Given the description of an element on the screen output the (x, y) to click on. 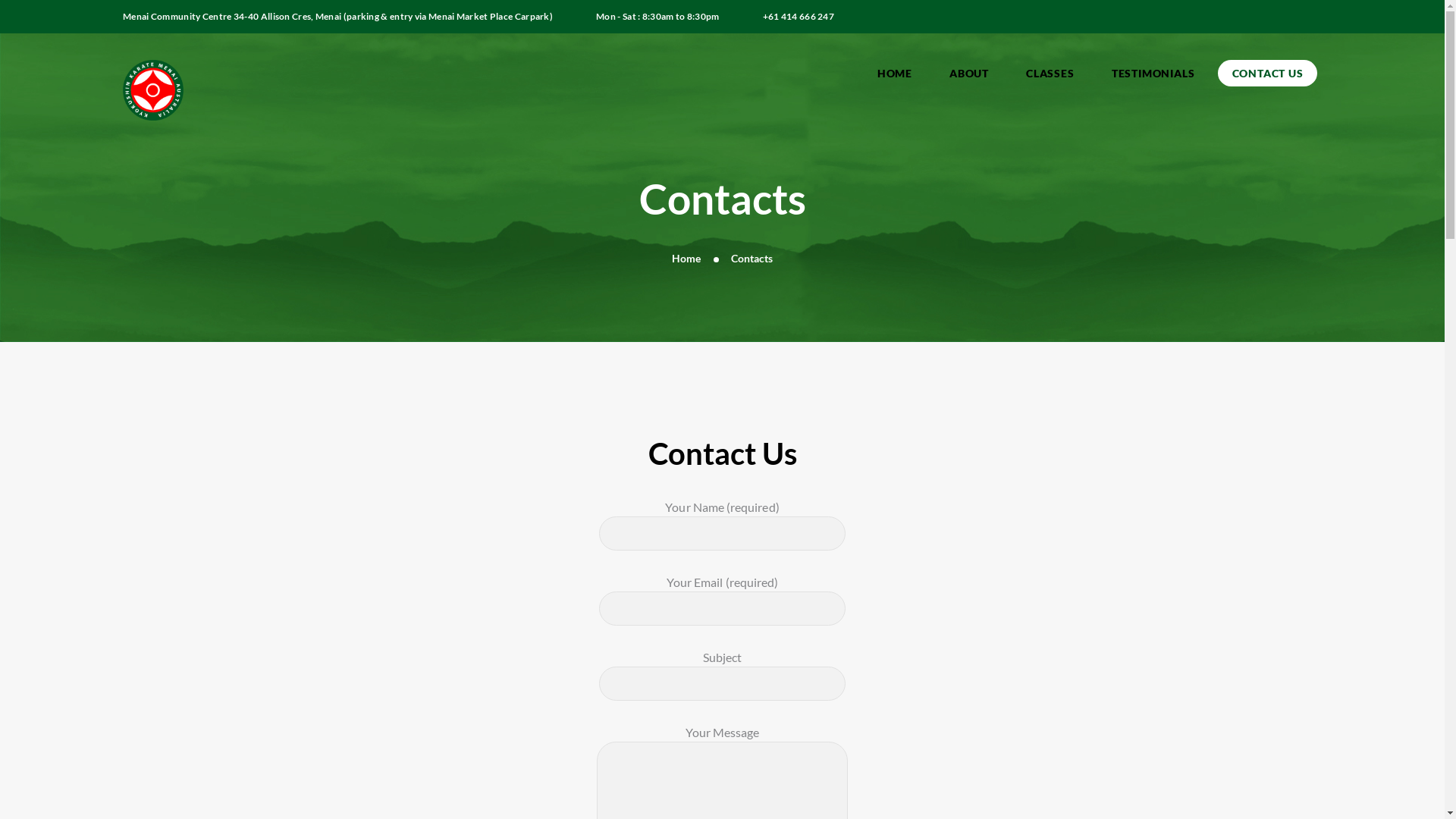
ABOUT Element type: text (968, 72)
TESTIMONIALS Element type: text (1152, 72)
CLASSES Element type: text (1050, 72)
Home Element type: text (685, 259)
CONTACT US Element type: text (1267, 72)
HOME Element type: text (893, 72)
